Given the description of an element on the screen output the (x, y) to click on. 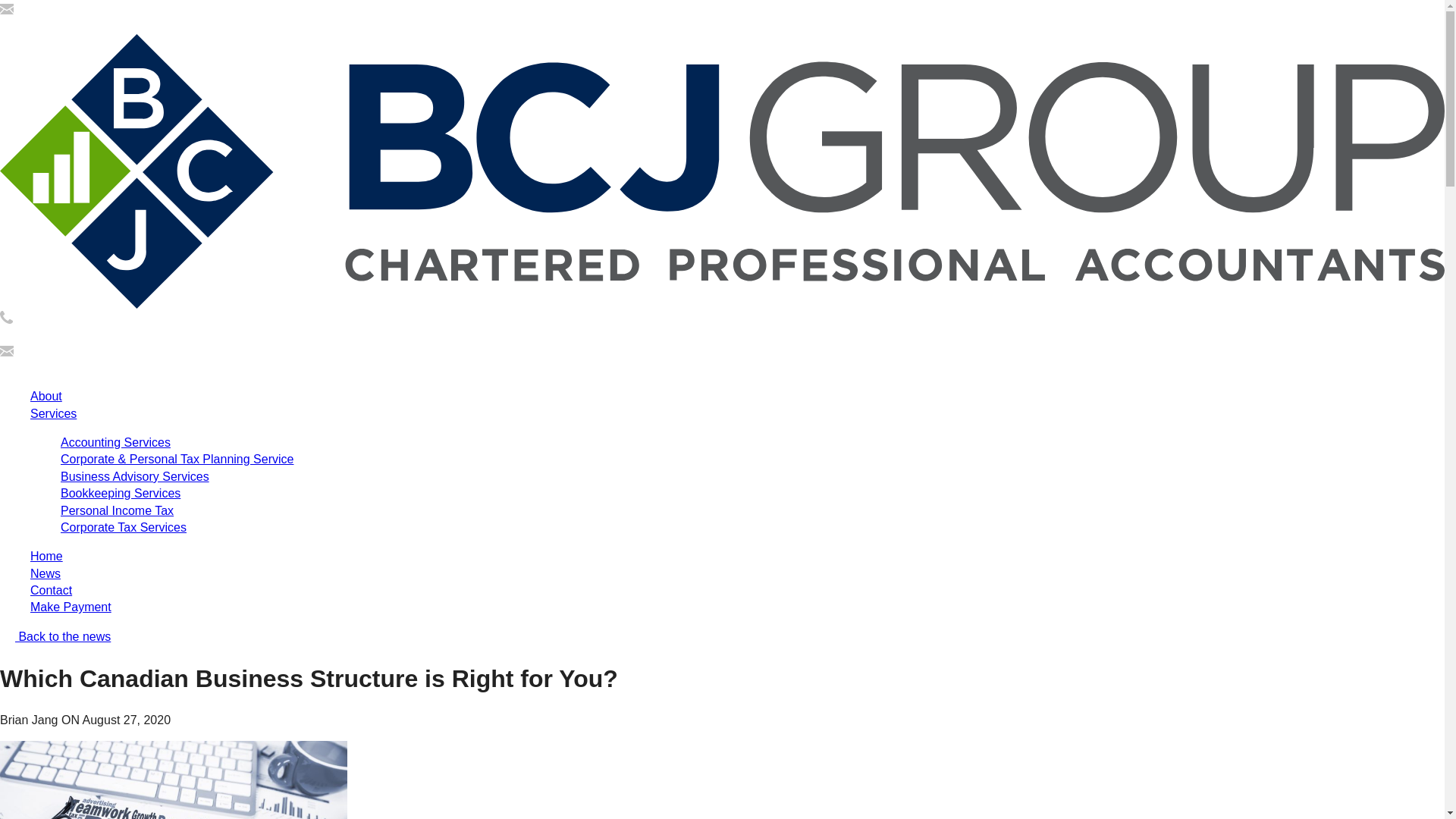
Home Element type: text (46, 555)
Corporate & Personal Tax Planning Service Element type: text (176, 458)
info@bcjgroup.ca Element type: text (47, 366)
Business Advisory Services Element type: text (134, 476)
About Element type: text (46, 395)
info@bcjgroup.ca Element type: text (47, 24)
(604) 431-0445 Element type: text (41, 332)
Bookkeeping Services Element type: text (120, 492)
Accounting Services Element type: text (115, 442)
Corporate Tax Services Element type: text (123, 526)
Personal Income Tax Element type: text (116, 510)
News Element type: text (45, 573)
Services Element type: text (53, 413)
Make Payment Element type: text (70, 606)
Contact Element type: text (51, 589)
Back to the news Element type: text (55, 636)
